Given the description of an element on the screen output the (x, y) to click on. 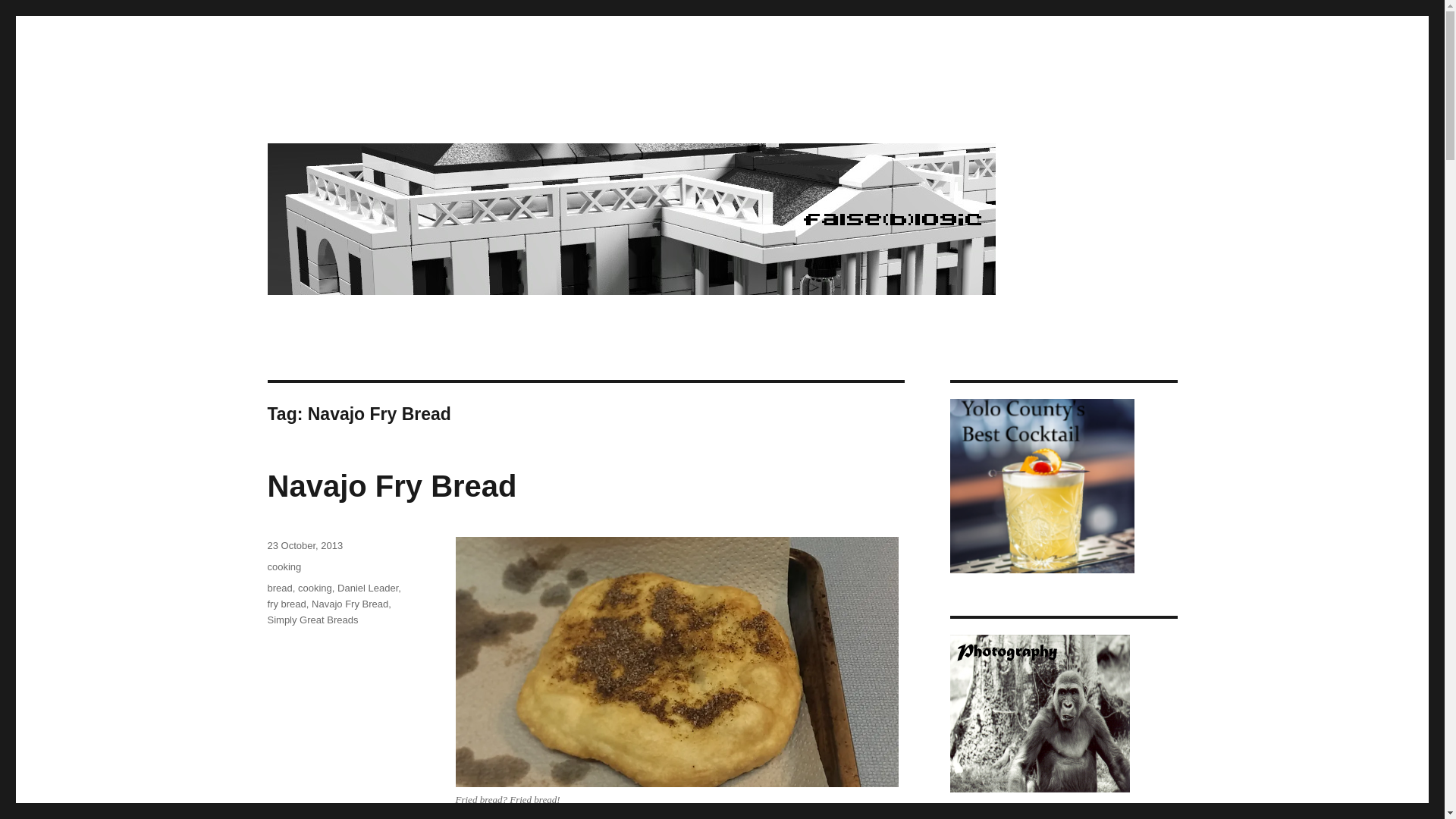
Navajo Fry Bread (349, 603)
cooking (314, 587)
23 October, 2013 (304, 545)
Simply Great Breads (312, 619)
bread (279, 587)
Photography (1039, 713)
cooking (283, 566)
Navajo Fry Bread (391, 485)
Daniel Leader (367, 587)
fry bread (285, 603)
